Given the description of an element on the screen output the (x, y) to click on. 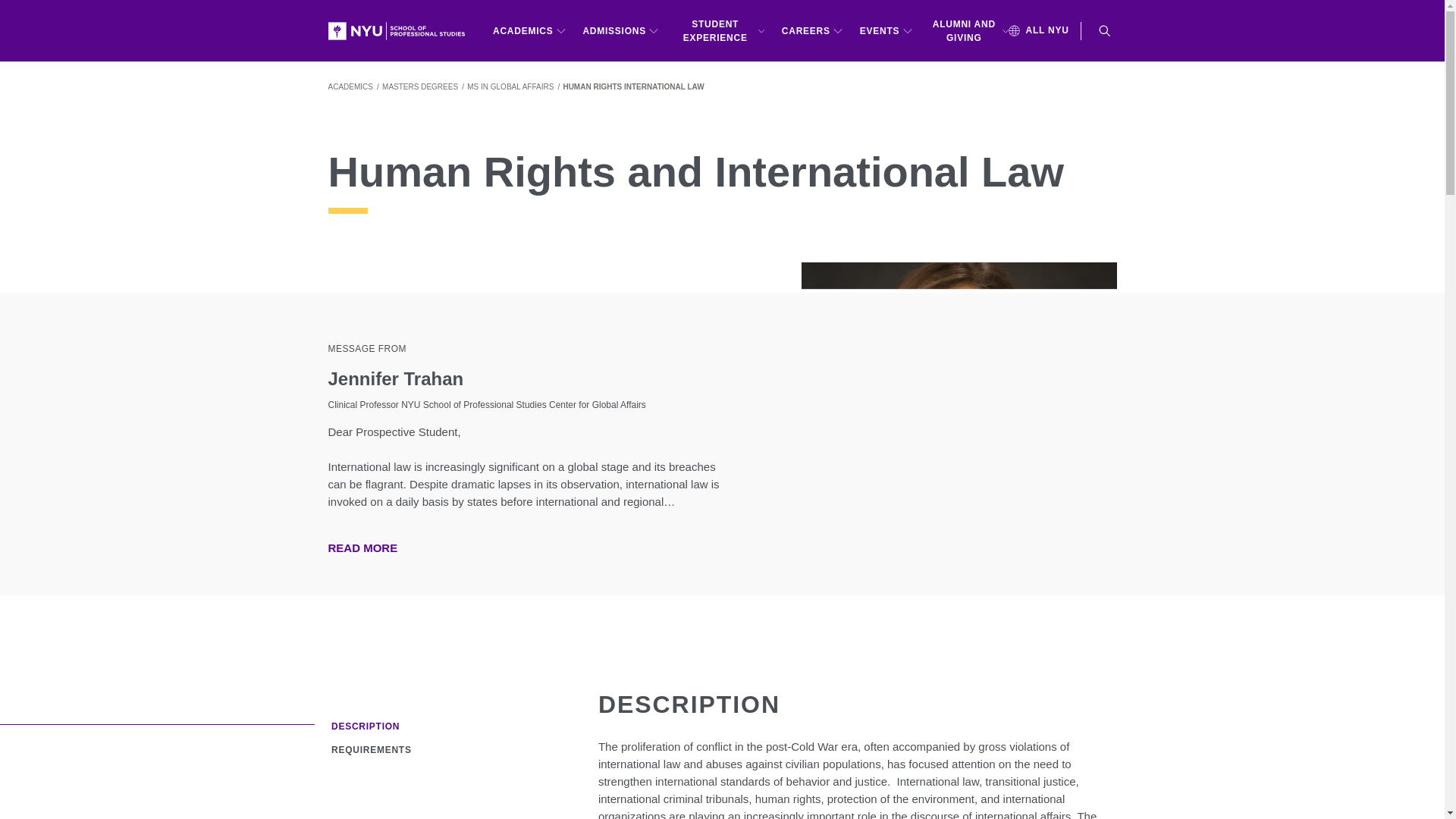
ADMISSIONS (620, 30)
NYU Homepage (401, 30)
ACADEMICS (529, 30)
